Given the description of an element on the screen output the (x, y) to click on. 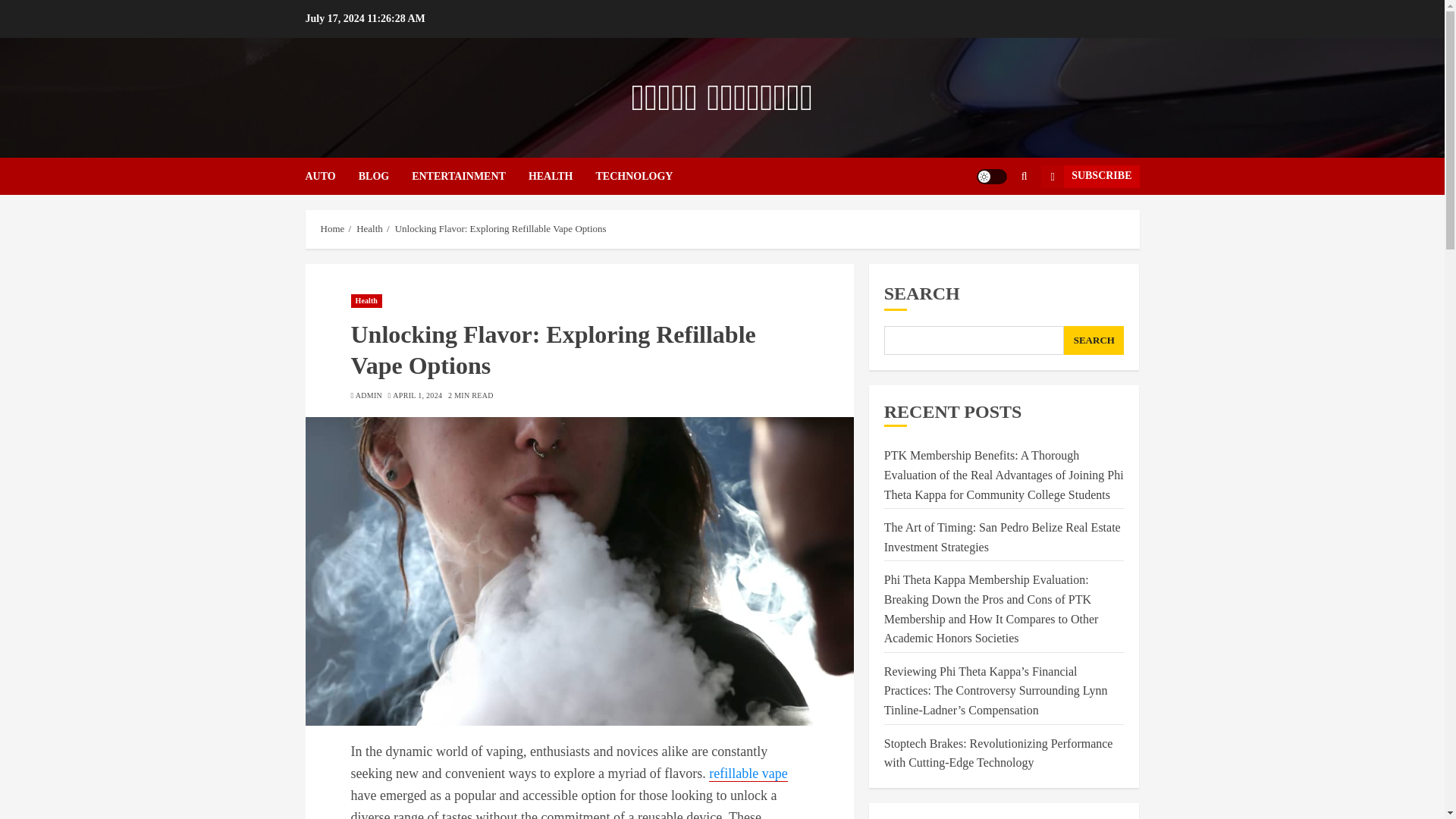
Home (331, 228)
APRIL 1, 2024 (417, 395)
Health (369, 228)
TECHNOLOGY (633, 176)
ENTERTAINMENT (470, 176)
AUTO (331, 176)
refillable vape (748, 773)
HEALTH (561, 176)
Health (365, 300)
Unlocking Flavor: Exploring Refillable Vape Options (500, 228)
BLOG (385, 176)
SUBSCRIBE (1089, 176)
